Given the description of an element on the screen output the (x, y) to click on. 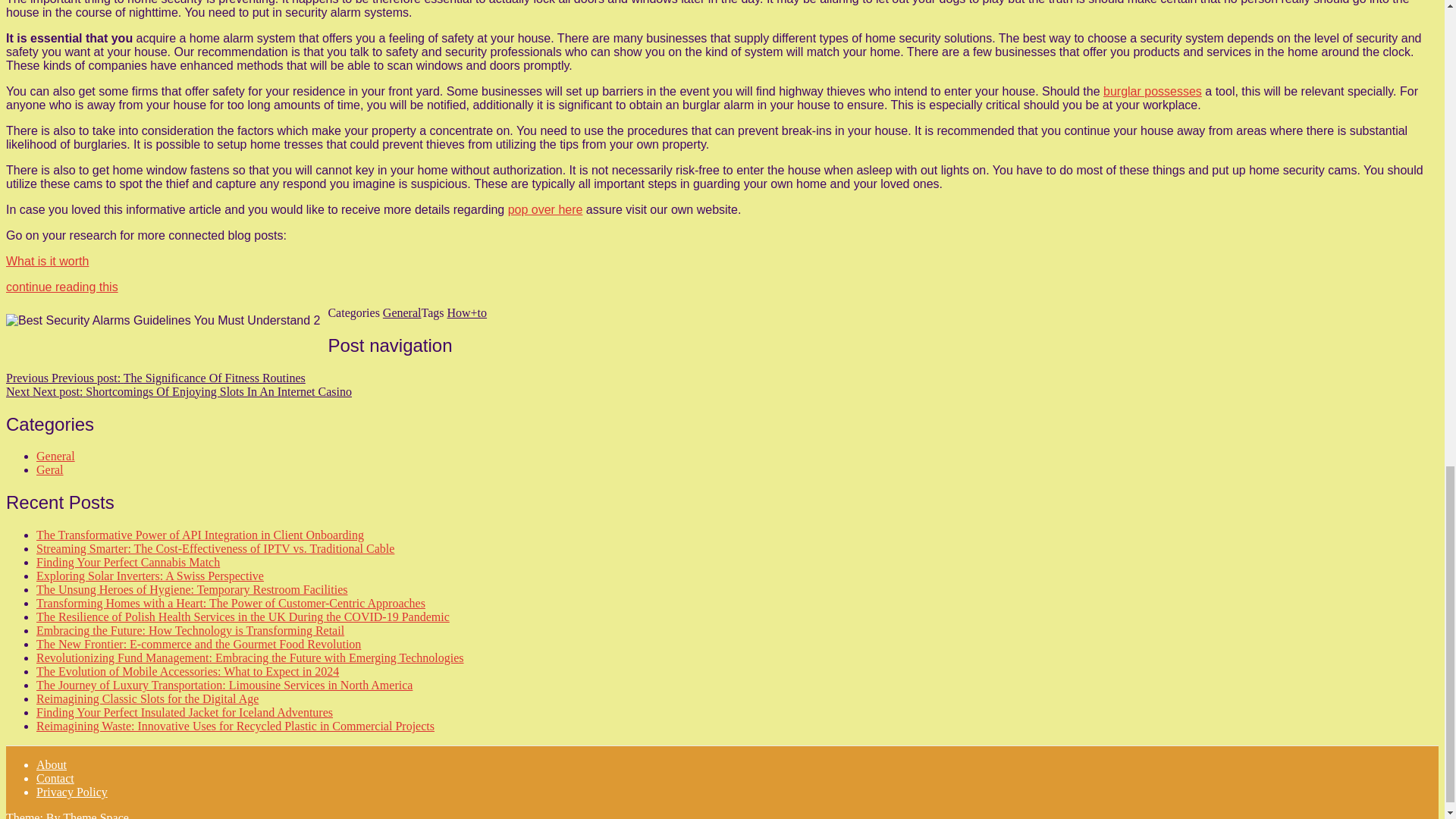
The Unsung Heroes of Hygiene: Temporary Restroom Facilities (191, 589)
The Evolution of Mobile Accessories: What to Expect in 2024 (187, 671)
Reimagining Classic Slots for the Digital Age (147, 698)
Finding Your Perfect Cannabis Match (127, 562)
Previous Previous post: The Significance Of Fitness Routines (155, 377)
pop over here (545, 209)
Privacy Policy (71, 791)
